Given the description of an element on the screen output the (x, y) to click on. 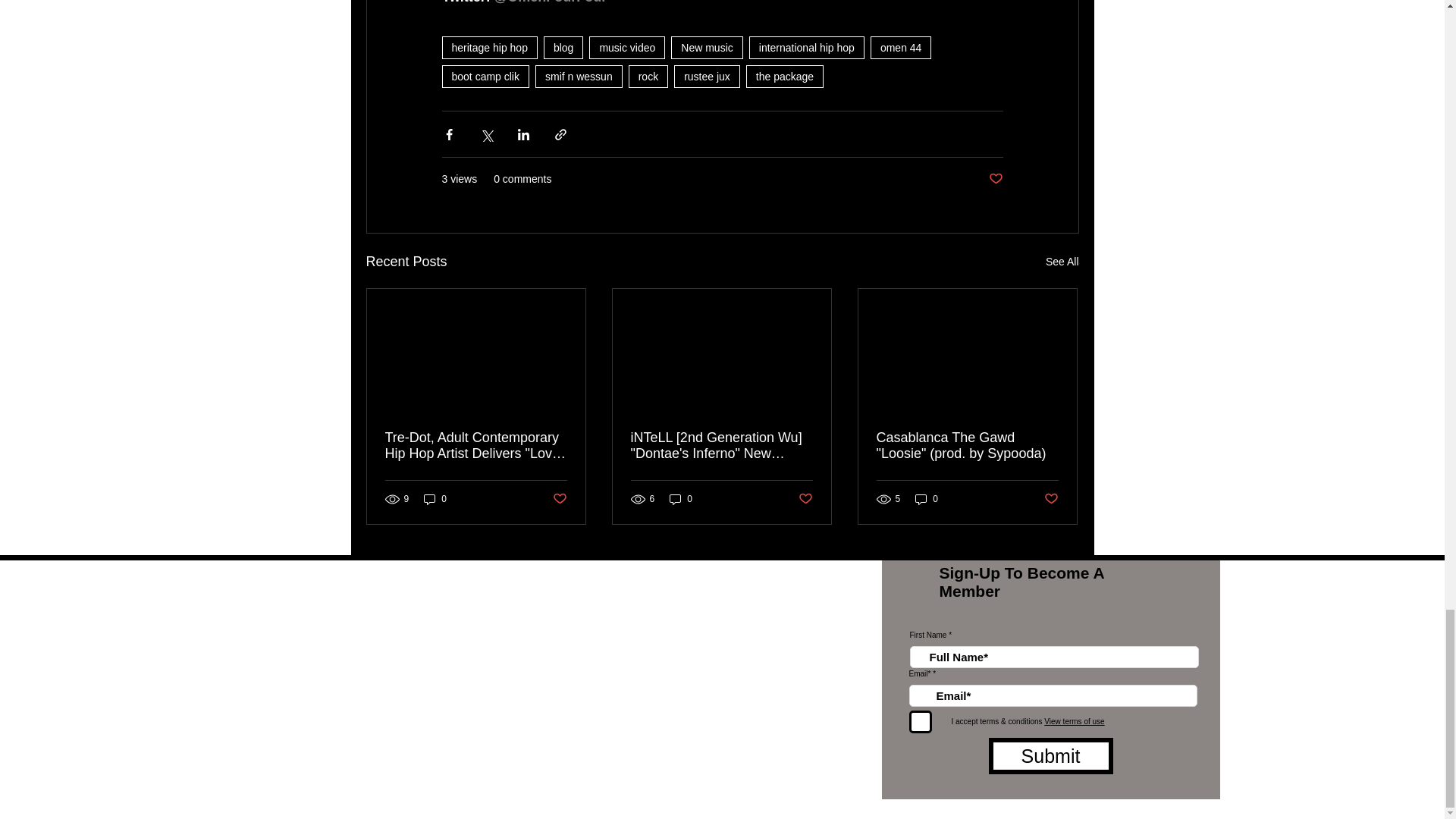
heritage hip hop (489, 47)
the package (784, 76)
blog (563, 47)
music video (627, 47)
international hip hop (806, 47)
rustee jux (706, 76)
omen 44 (900, 47)
rock (648, 76)
smif n wessun (579, 76)
boot camp clik (484, 76)
